Given the description of an element on the screen output the (x, y) to click on. 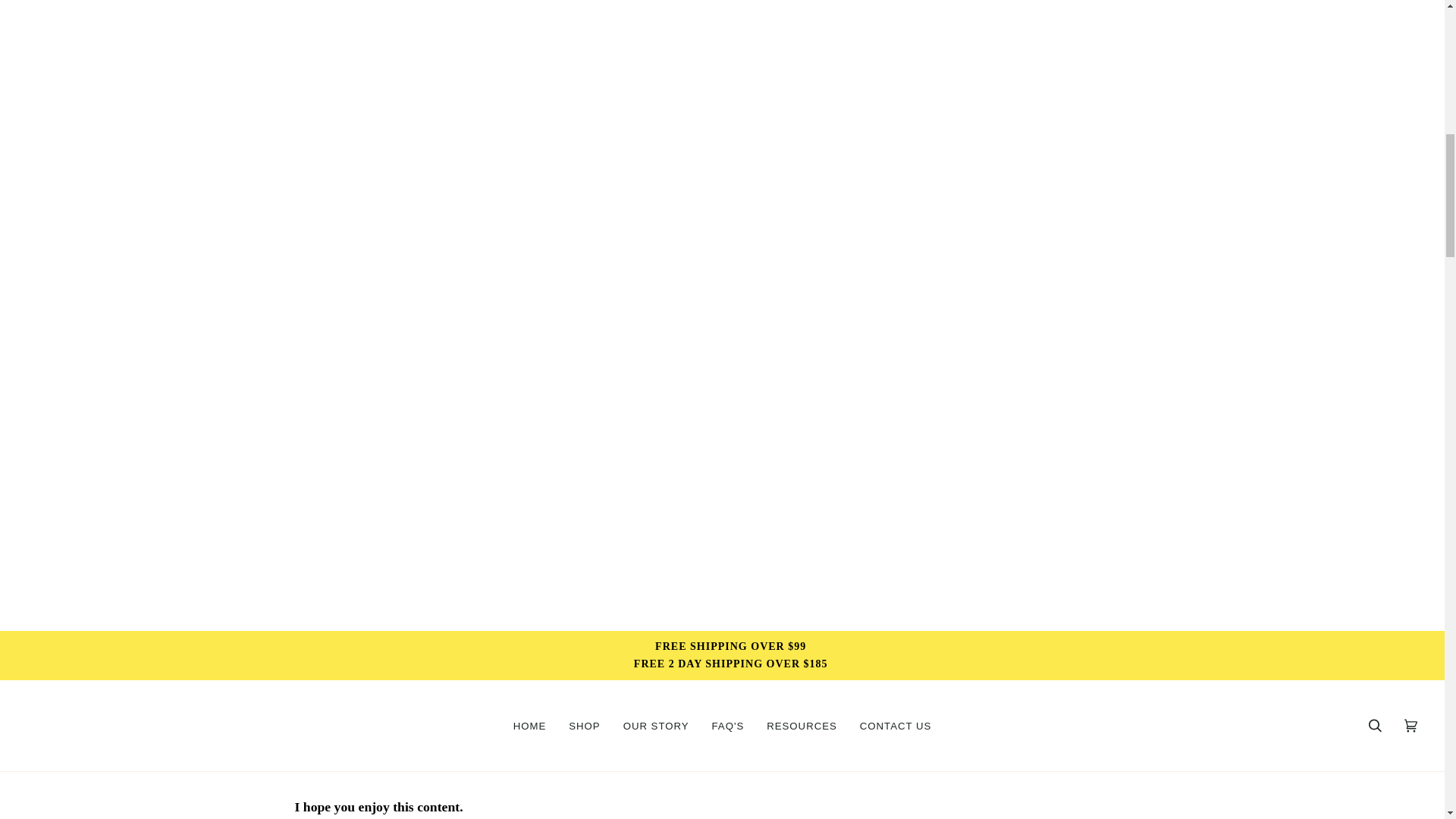
CONTACT US (895, 725)
OUR STORY (655, 725)
RESOURCES (801, 725)
